Given the description of an element on the screen output the (x, y) to click on. 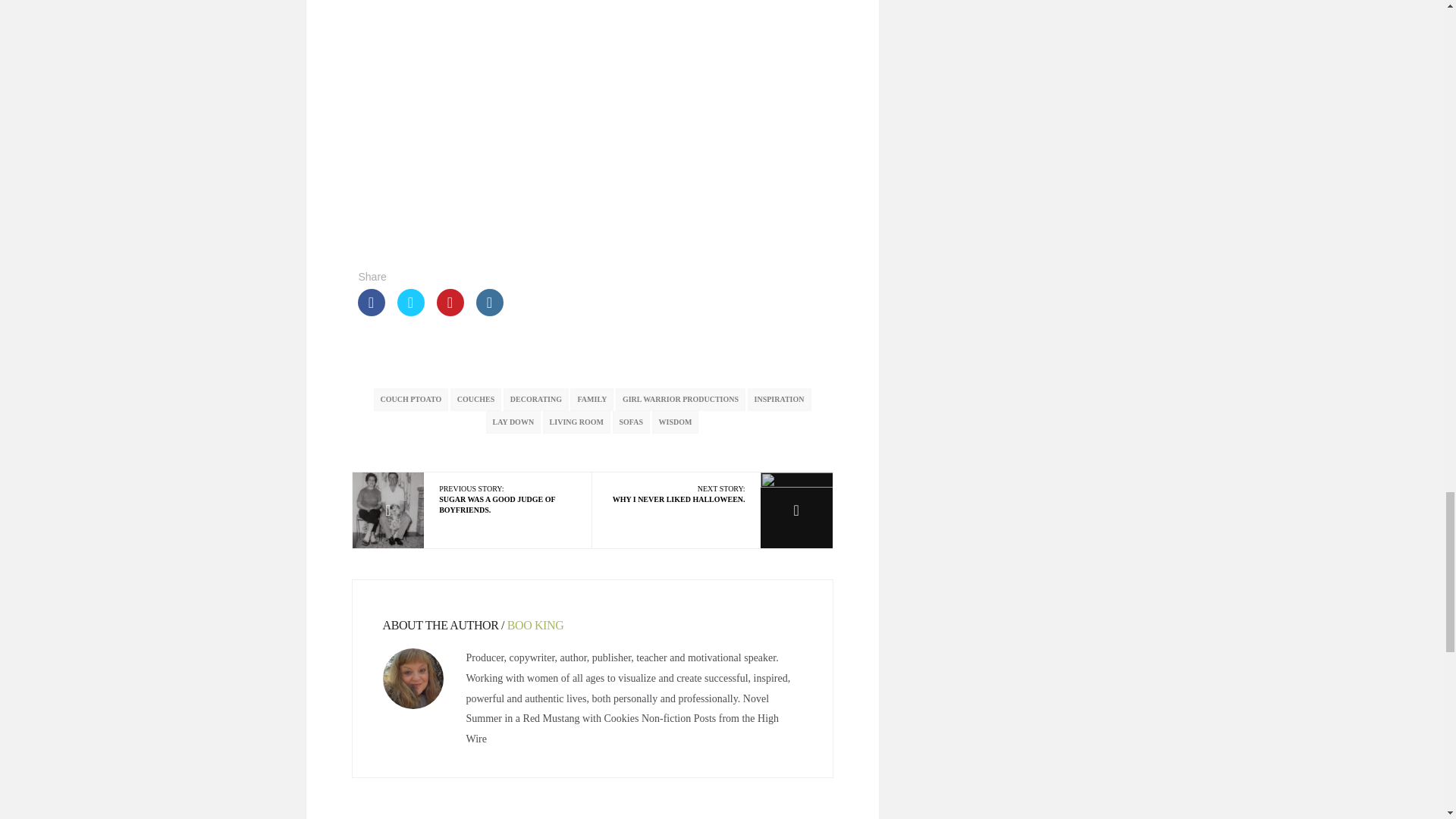
GIRL WARRIOR PRODUCTIONS (680, 399)
LIVING ROOM (576, 422)
INSPIRATION (507, 499)
WISDOM (779, 399)
FAMILY (675, 422)
COUCH PTOATO (591, 399)
LAY DOWN (410, 399)
COUCHES (676, 494)
BOO KING (513, 422)
DECORATING (474, 399)
SOFAS (535, 625)
Posts by Boo King (536, 399)
